Given the description of an element on the screen output the (x, y) to click on. 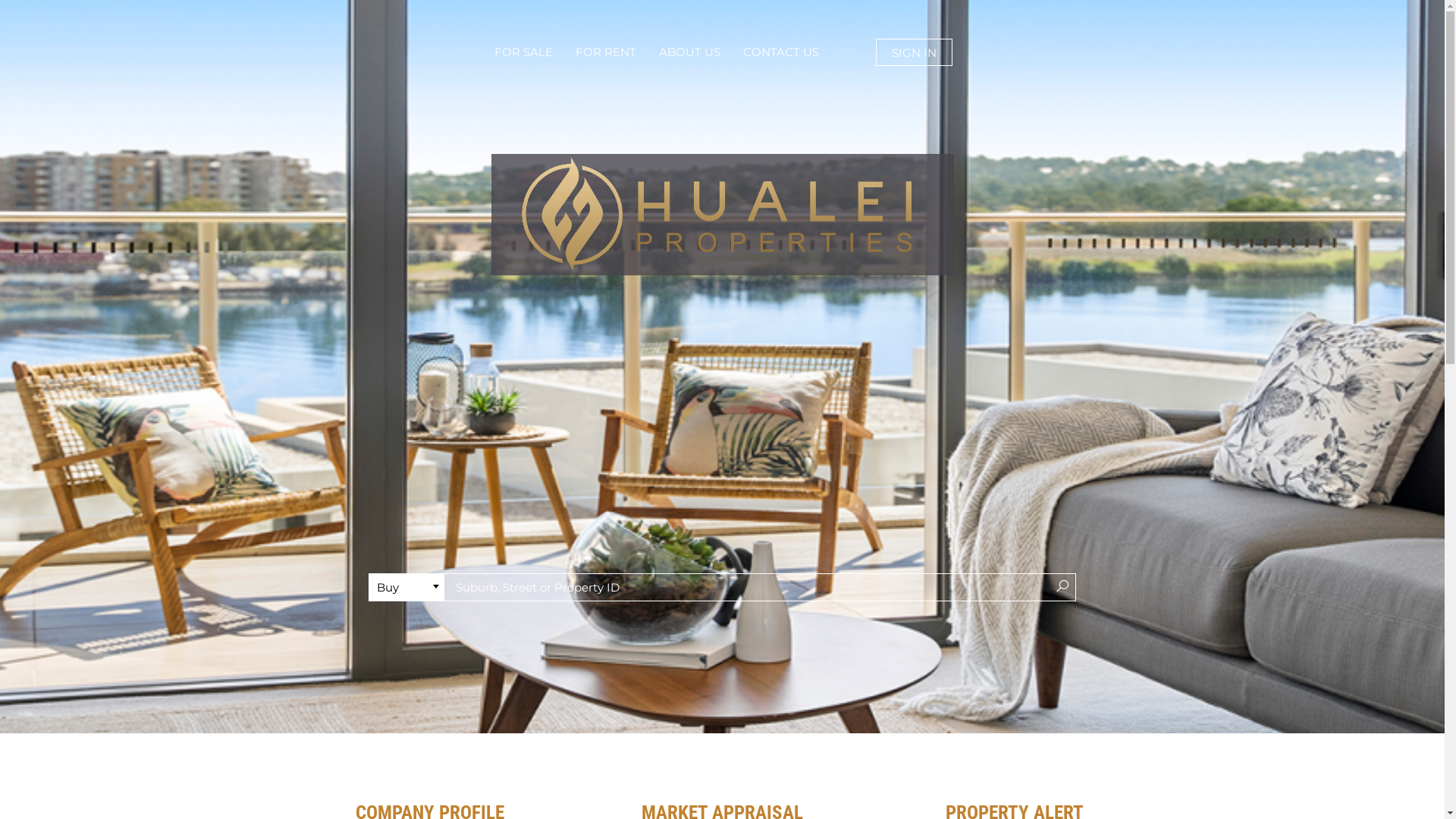
FOR SALE Element type: text (523, 51)
FOR RENT Element type: text (605, 51)
CONTACT US Element type: text (780, 51)
ABOUT US Element type: text (689, 51)
SIGN IN Element type: text (913, 51)
